Given the description of an element on the screen output the (x, y) to click on. 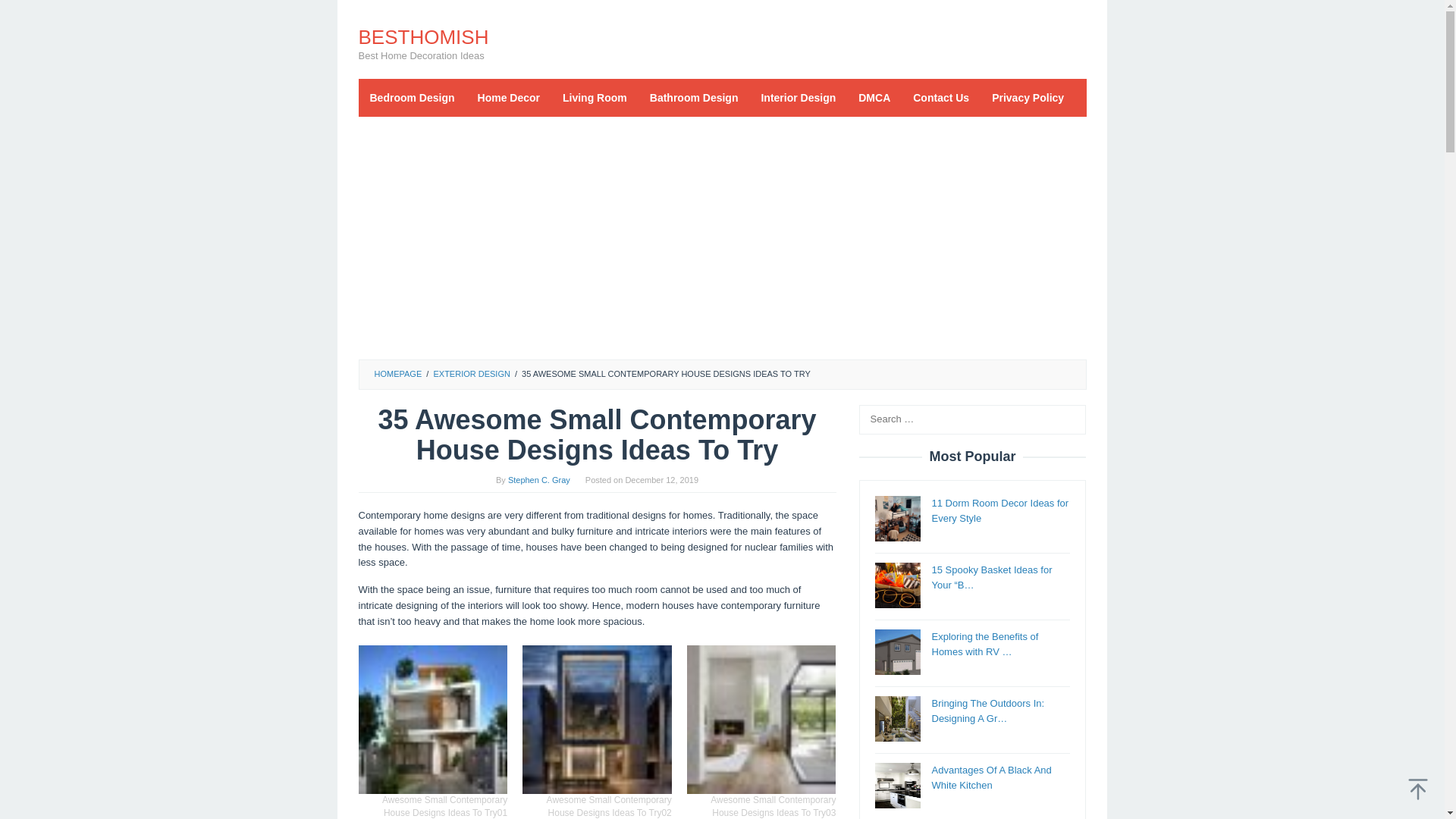
Contact Us (940, 97)
Permalink to: Stephen C. Gray (539, 479)
Bedroom Design (411, 97)
Interior Design (798, 97)
HOMEPAGE (398, 373)
Awesome Small Contemporary House Designs Ideas To Try02 (596, 719)
Privacy Policy (1027, 97)
BESTHOMISH (422, 36)
Bathroom Design (694, 97)
Awesome Small Contemporary House Designs Ideas To Try01 (432, 719)
Stephen C. Gray (539, 479)
Awesome Small Contemporary House Designs Ideas To Try03 (761, 719)
Living Room (595, 97)
DMCA (874, 97)
